Given the description of an element on the screen output the (x, y) to click on. 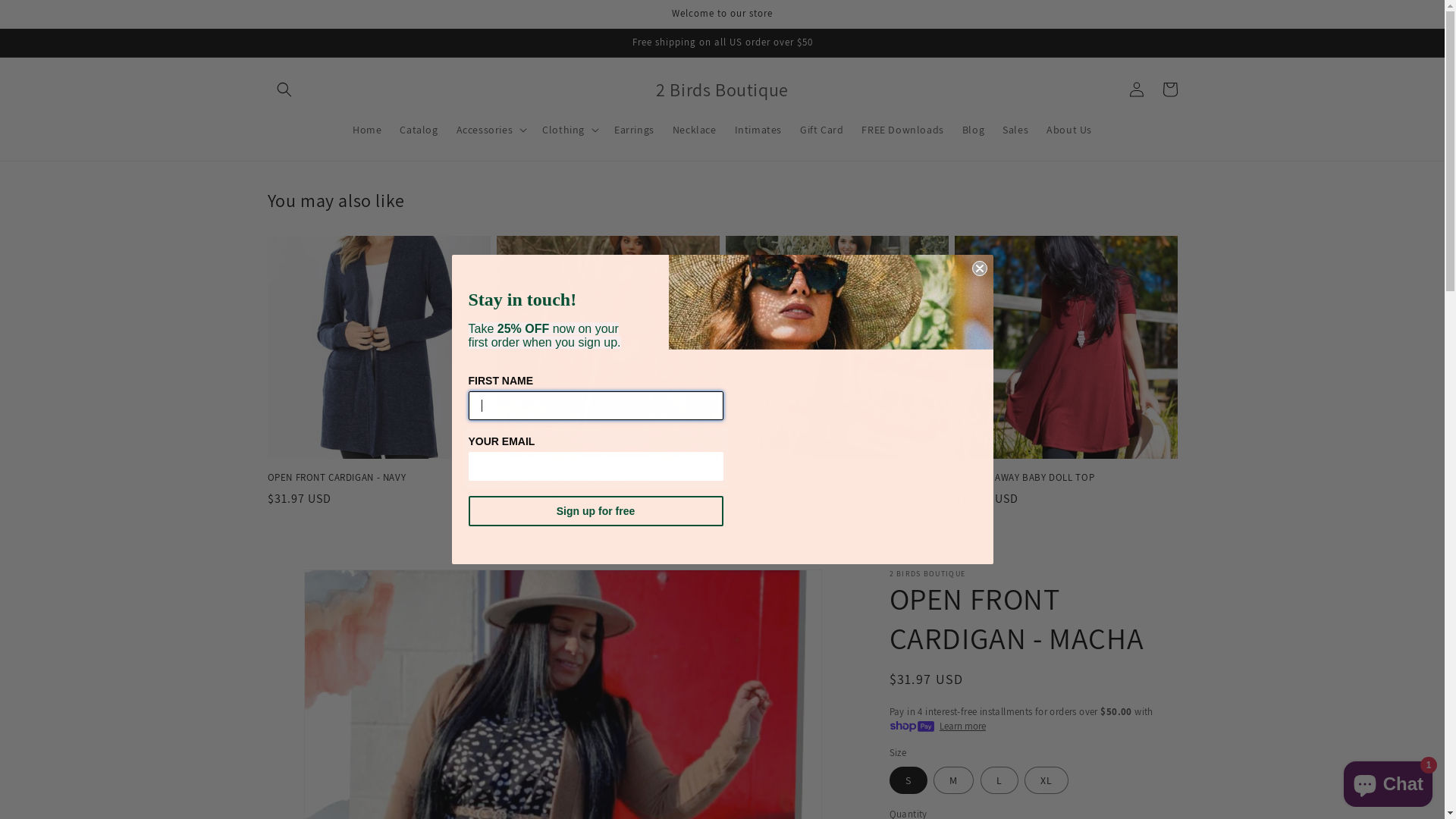
TAKE ME AWAY BABY DOLL TOP Element type: text (1064, 477)
Cart Element type: text (1169, 89)
Necklace Element type: text (694, 129)
Shopify online store chat Element type: hover (1388, 780)
Gift Card Element type: text (821, 129)
Catalog Element type: text (418, 129)
2 Birds Boutique Element type: text (722, 88)
Intimates Element type: text (757, 129)
Earrings Element type: text (634, 129)
Sales Element type: text (1015, 129)
OPEN FRONT CARDIGAN - NAVY Element type: text (377, 477)
OPEN FRONT CARDIGAN - ASH MUSTARD Element type: text (835, 477)
Blog Element type: text (973, 129)
FREE Downloads Element type: text (902, 129)
Home Element type: text (366, 129)
Skip to product information Element type: text (312, 586)
About Us Element type: text (1069, 129)
OPEN FRONT CARDIGAN - CABERNET Element type: text (606, 477)
Log in Element type: text (1135, 89)
